Given the description of an element on the screen output the (x, y) to click on. 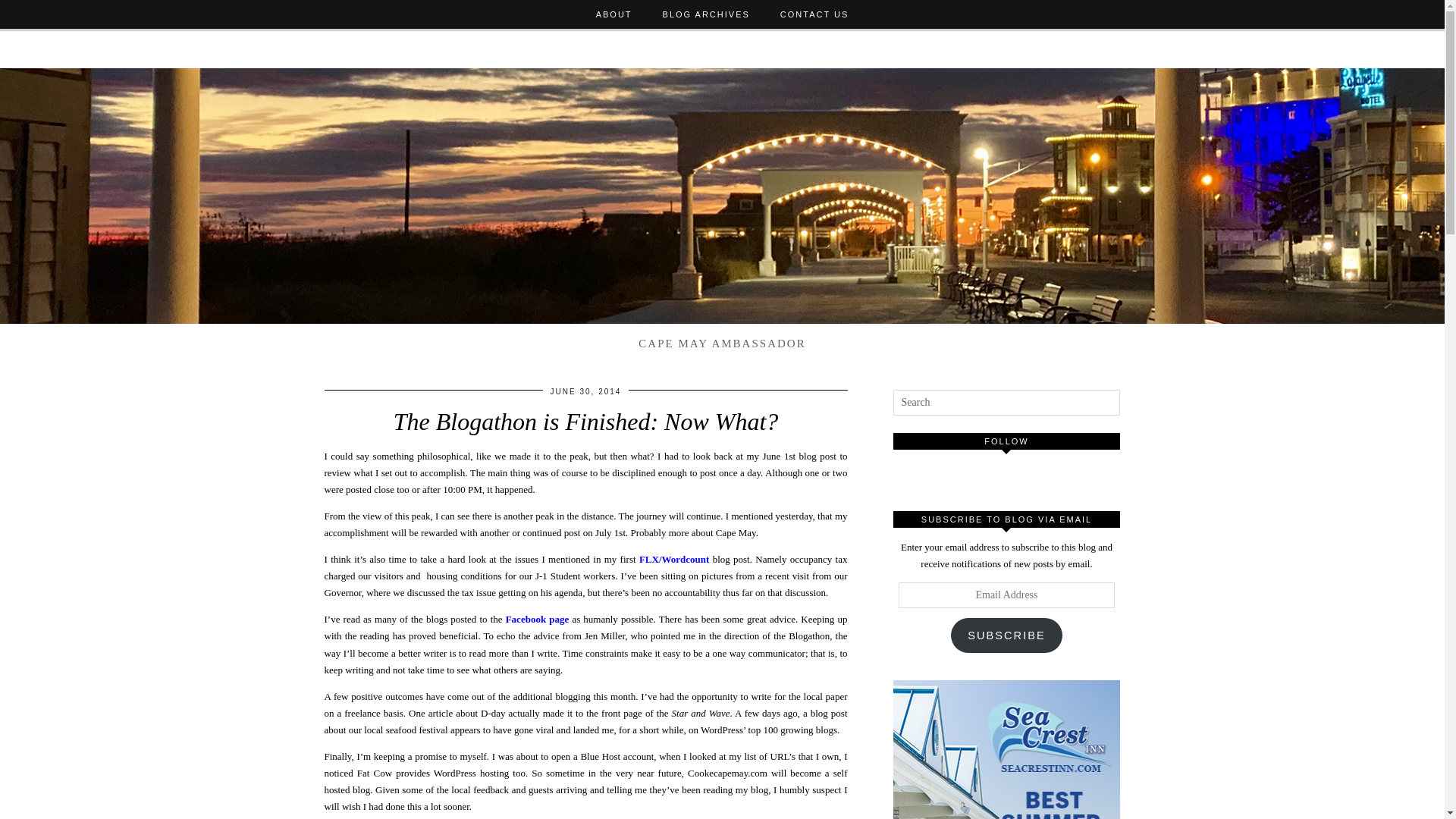
ABOUT (613, 14)
Facebook page (537, 618)
CONTACT US (814, 14)
BLOG ARCHIVES (706, 14)
